Given the description of an element on the screen output the (x, y) to click on. 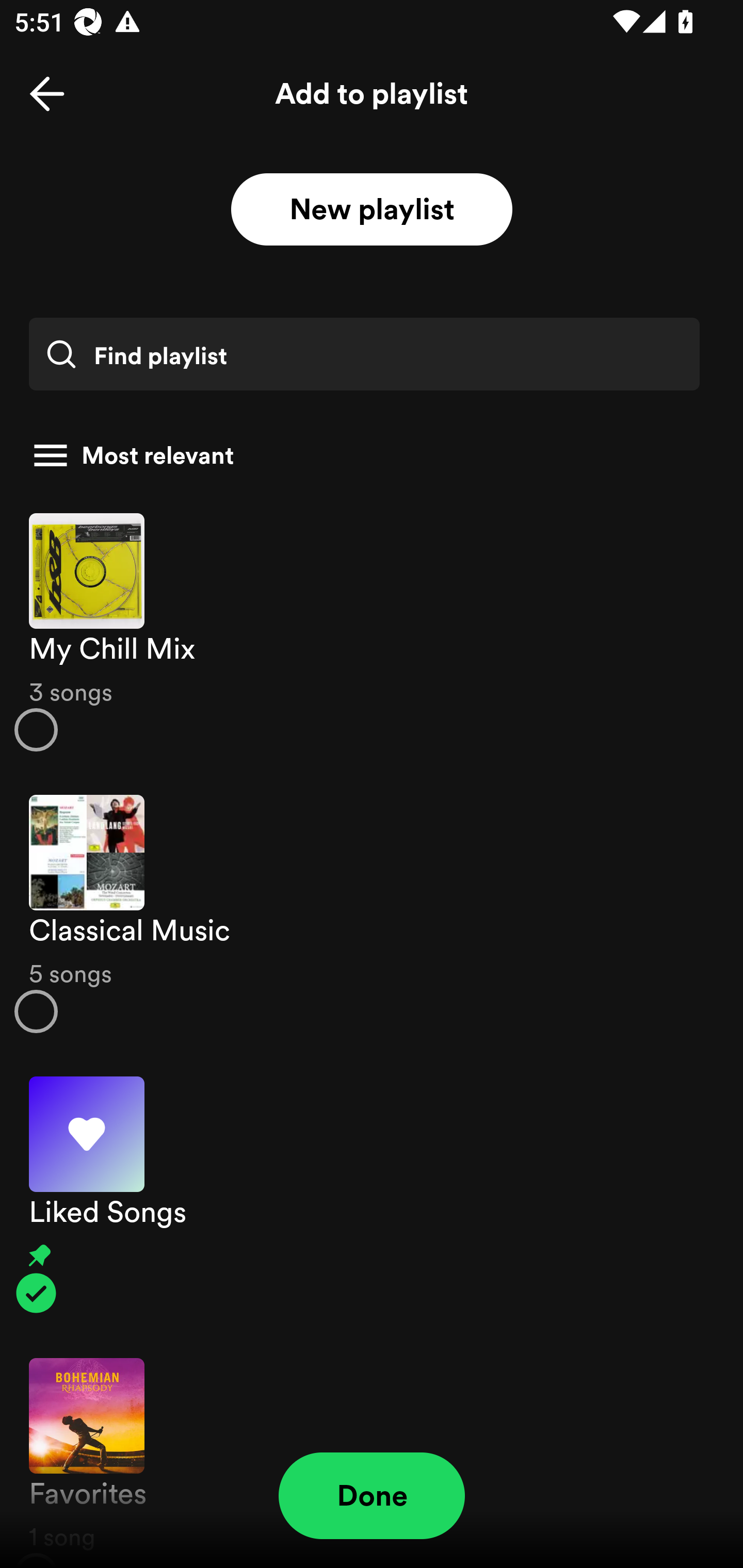
Back (46, 93)
New playlist (371, 210)
Find playlist (363, 354)
Most relevant (363, 455)
My Chill Mix 3 songs (371, 631)
Classical Music 5 songs (371, 914)
Liked Songs Pinned (371, 1195)
Favorites 1 song (371, 1451)
Done (371, 1495)
